Given the description of an element on the screen output the (x, y) to click on. 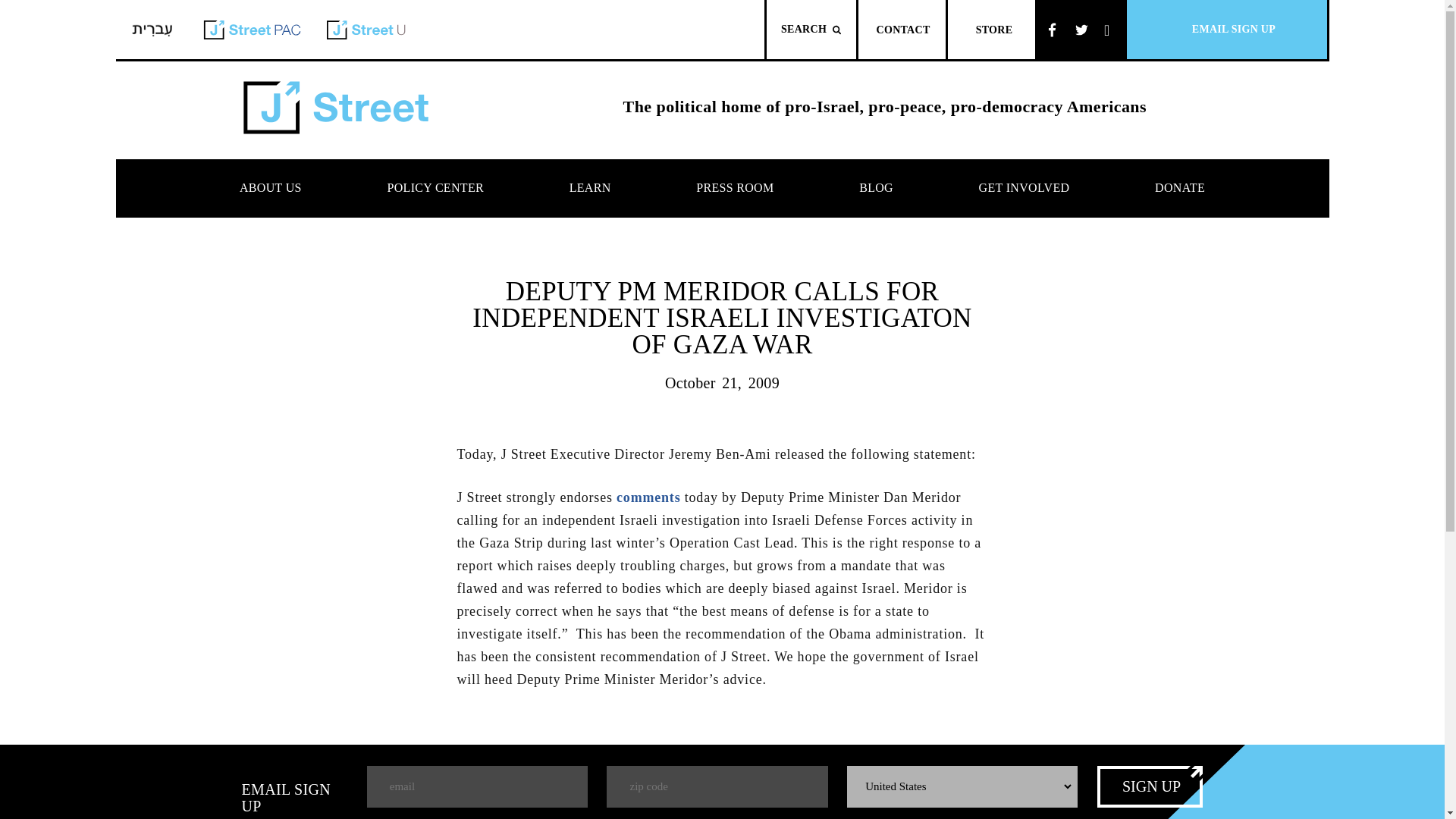
STORE (991, 29)
SEARCH (811, 29)
CONTACT (901, 29)
ABOUT US (270, 187)
POLICY CENTER (435, 187)
instagram link (1110, 29)
EMAIL SIGN UP (1226, 29)
